Given the description of an element on the screen output the (x, y) to click on. 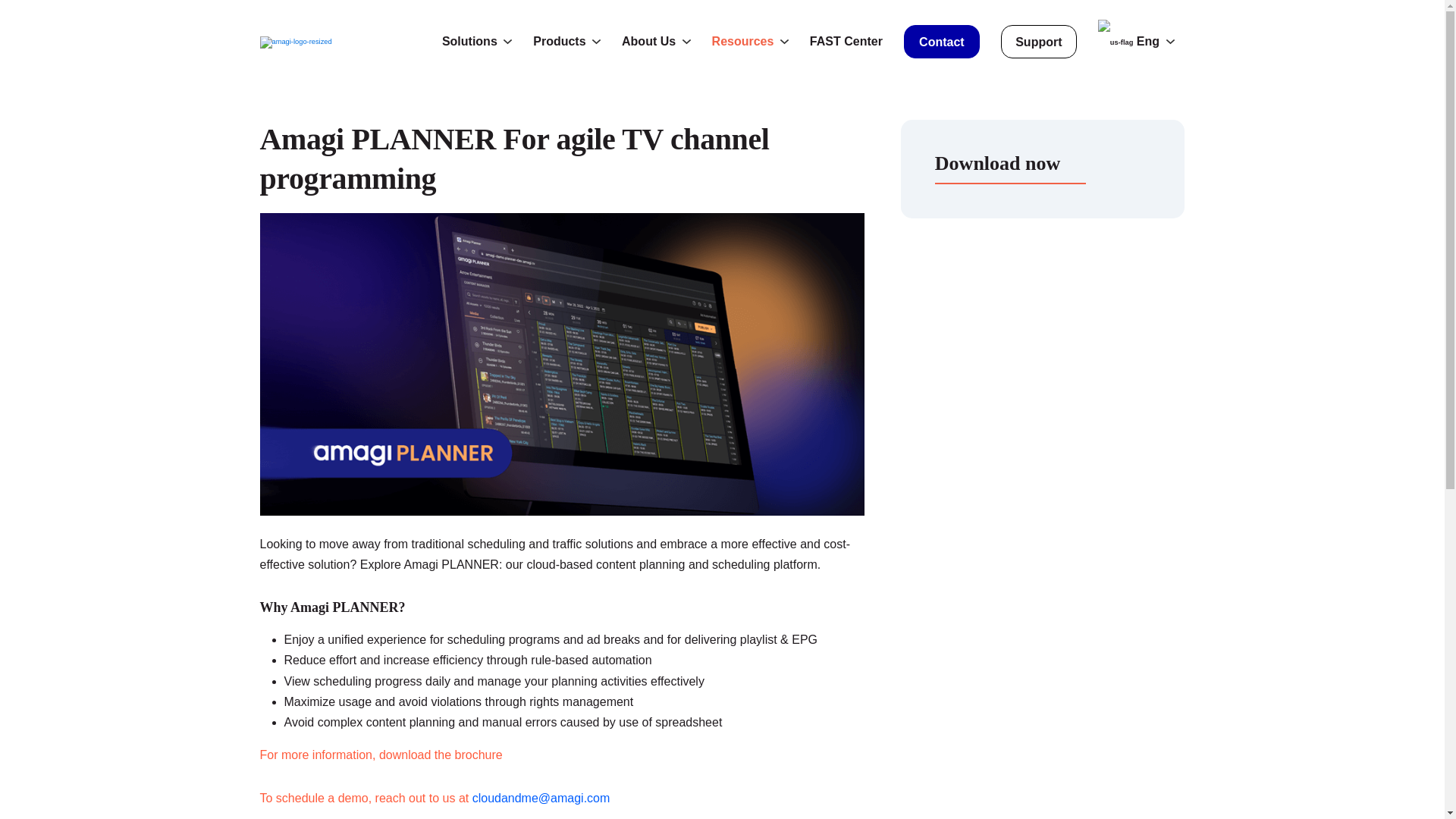
Resources (750, 41)
amagi-logo-resized (295, 42)
Solutions (477, 41)
Products (565, 41)
About Us (655, 41)
